Given the description of an element on the screen output the (x, y) to click on. 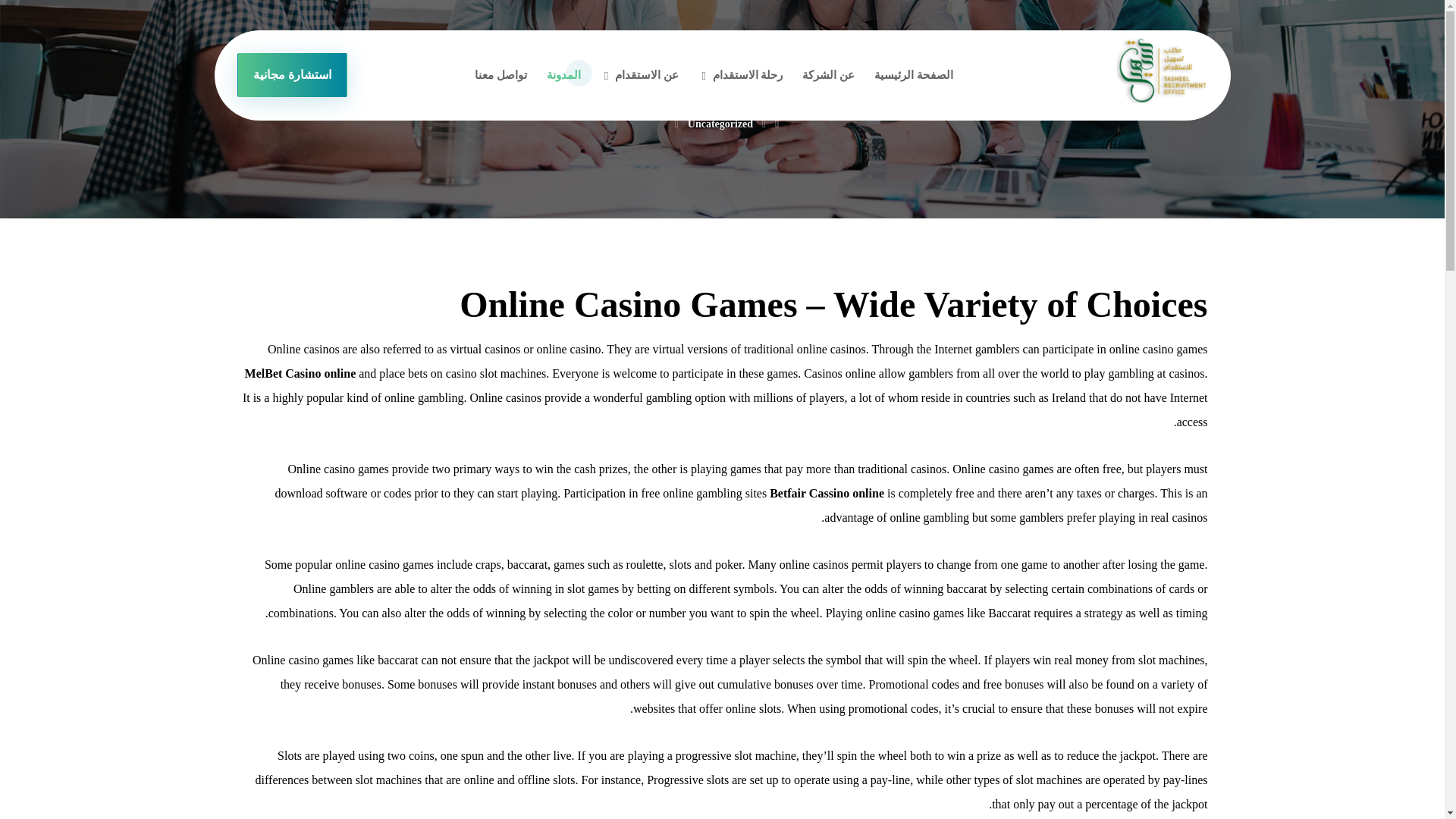
MelBet Casino online (300, 373)
Uncategorized (719, 123)
Betfair Cassino online (826, 492)
